Given the description of an element on the screen output the (x, y) to click on. 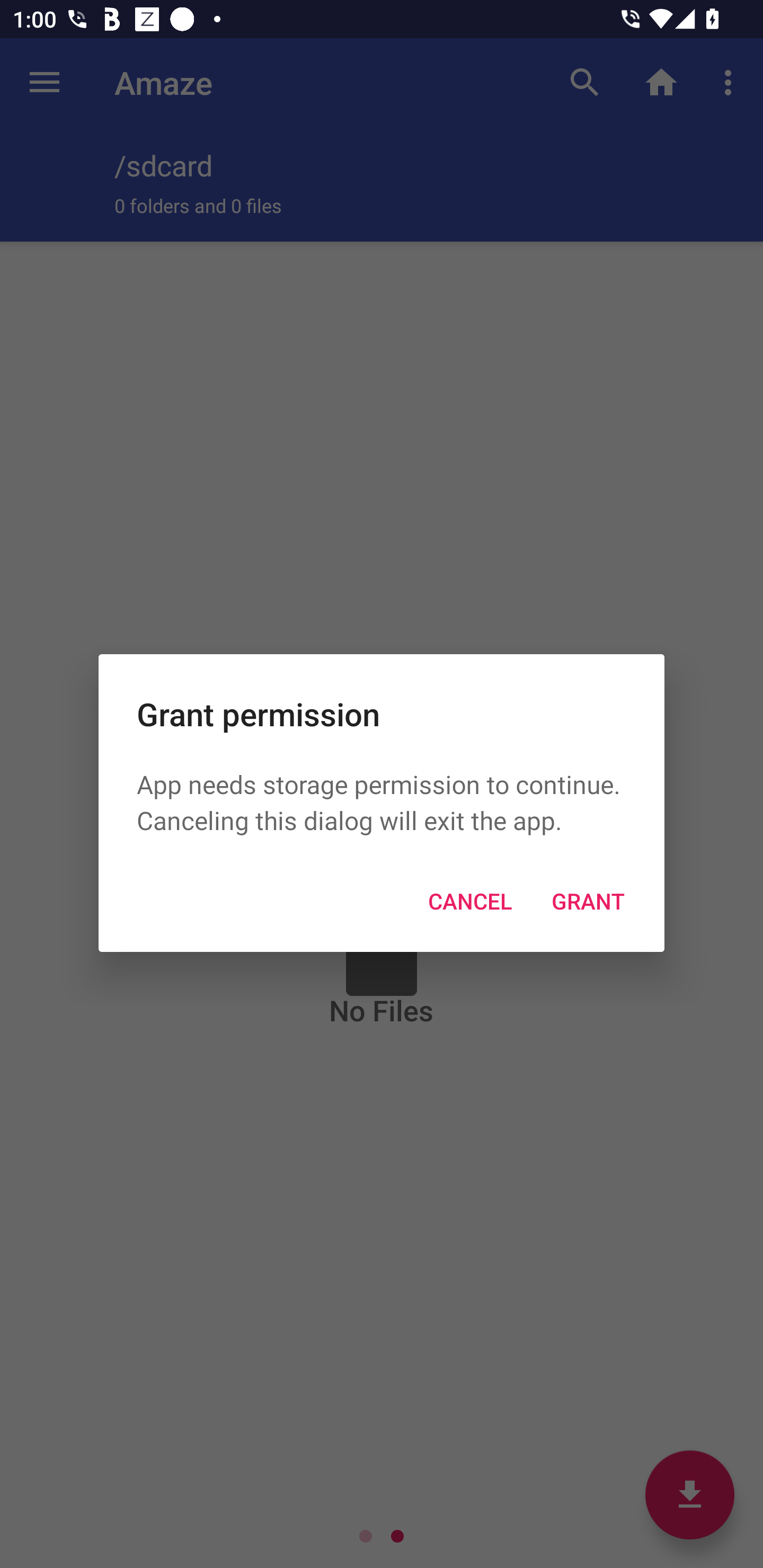
CANCEL (469, 900)
GRANT (588, 900)
